Given the description of an element on the screen output the (x, y) to click on. 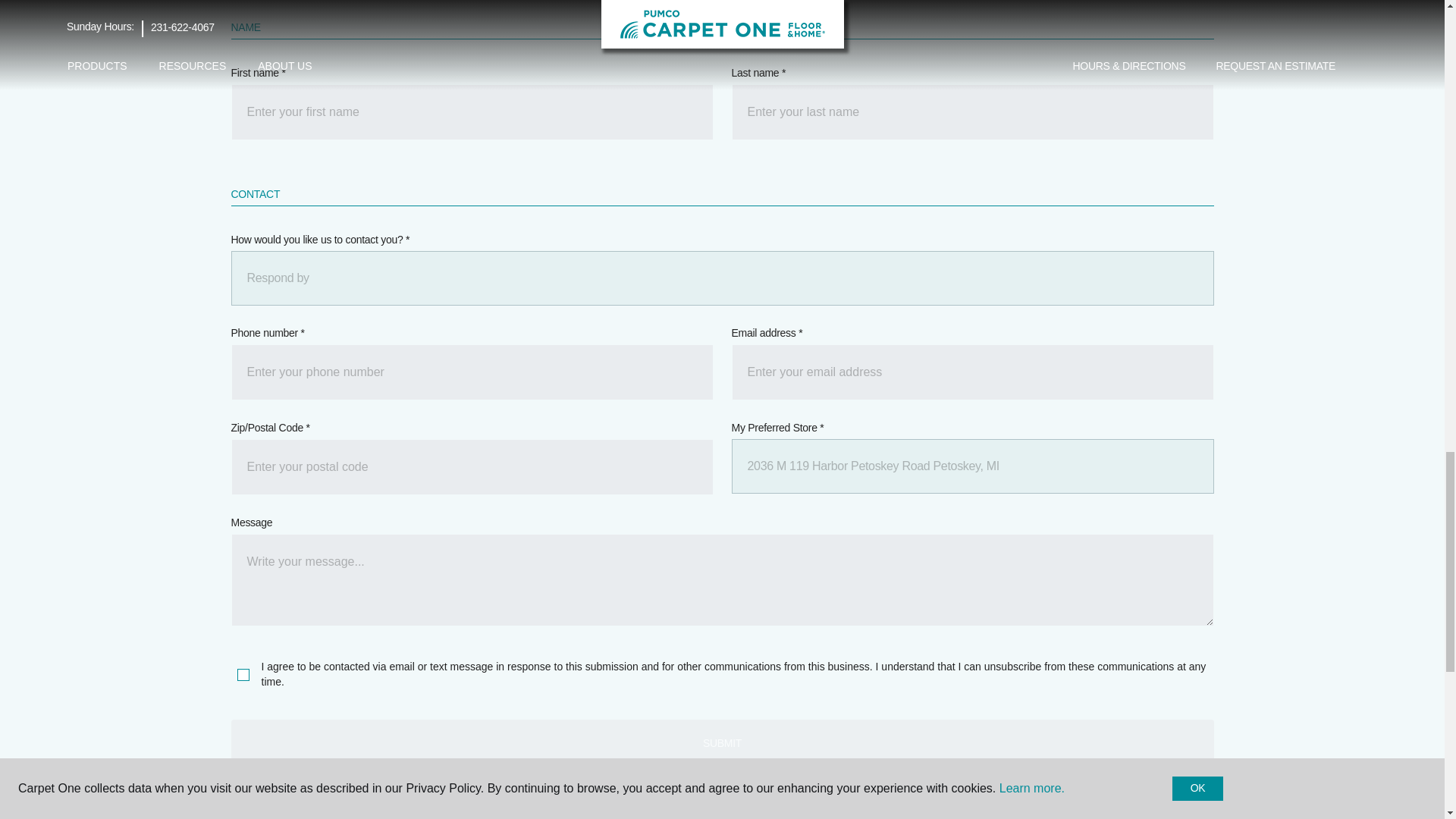
CleanHomePhone (471, 371)
EmailAddress (971, 371)
PostalCode (471, 466)
MyMessage (721, 579)
FirstName (471, 112)
LastName (971, 112)
